Given the description of an element on the screen output the (x, y) to click on. 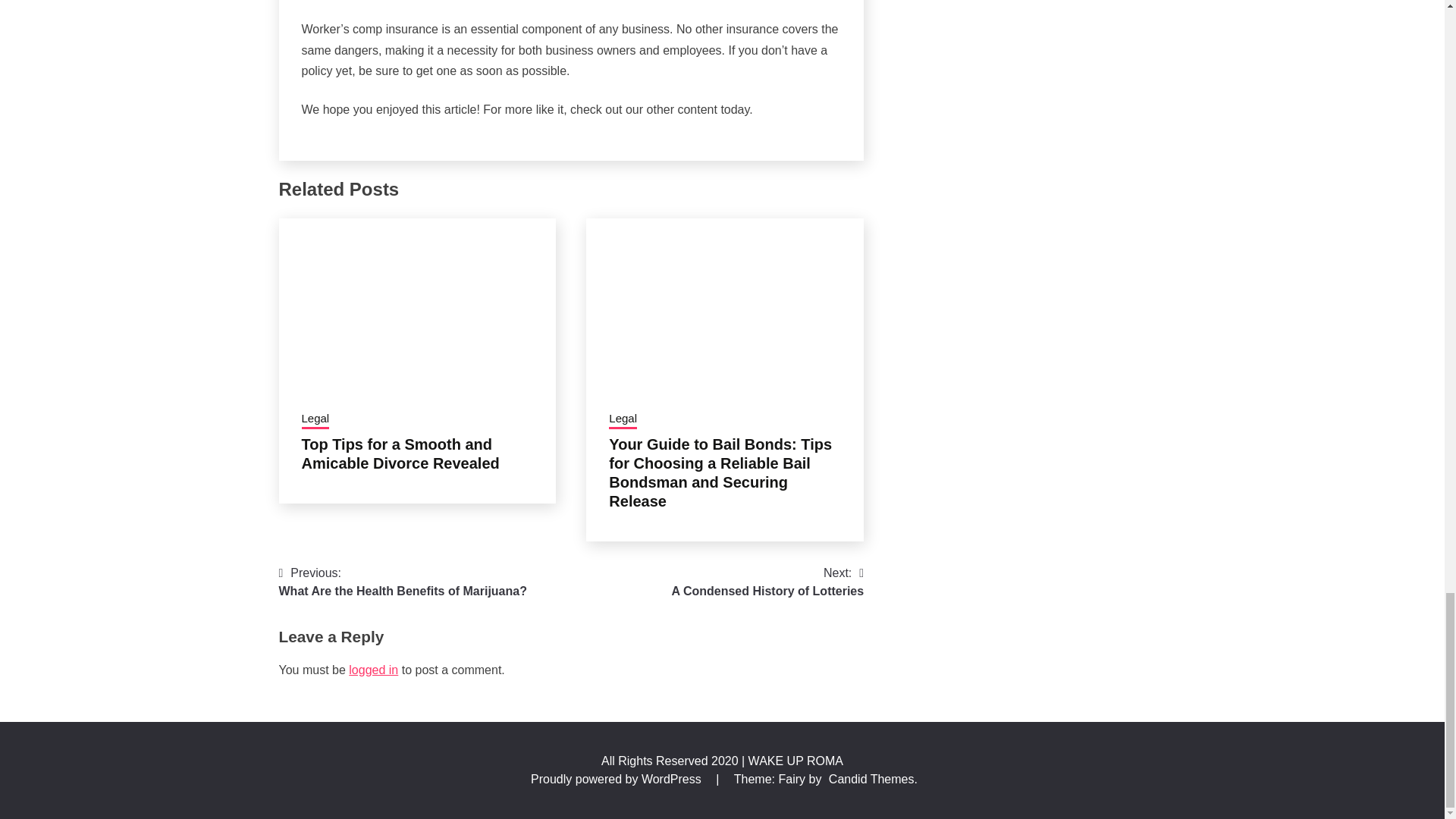
logged in (767, 582)
Legal (373, 669)
Legal (403, 582)
Top Tips for a Smooth and Amicable Divorce Revealed (622, 419)
